Given the description of an element on the screen output the (x, y) to click on. 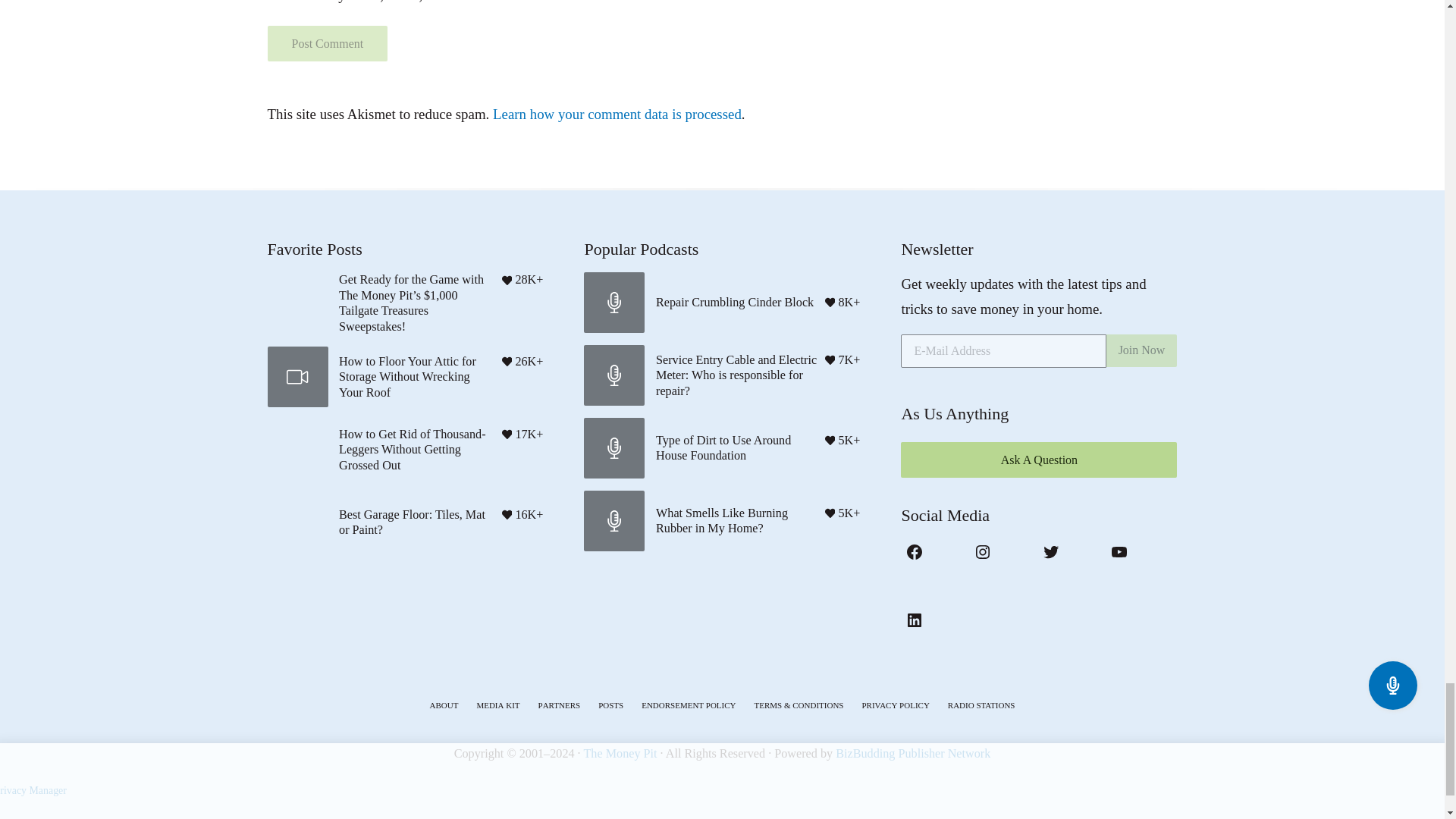
Join Now (1141, 350)
Post Comment (326, 42)
